Given the description of an element on the screen output the (x, y) to click on. 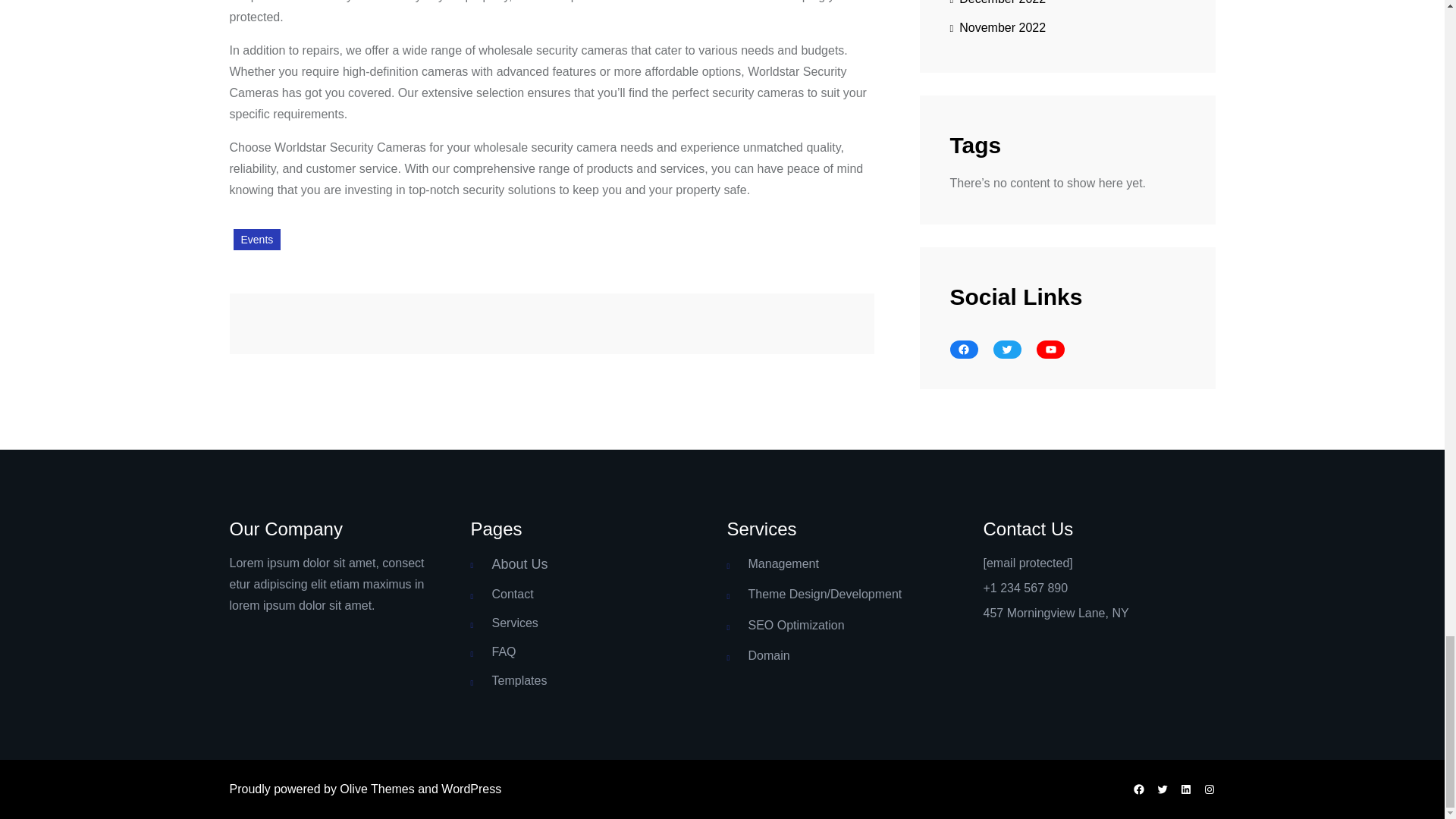
November 2022 (997, 27)
Events (256, 239)
December 2022 (997, 6)
